Given the description of an element on the screen output the (x, y) to click on. 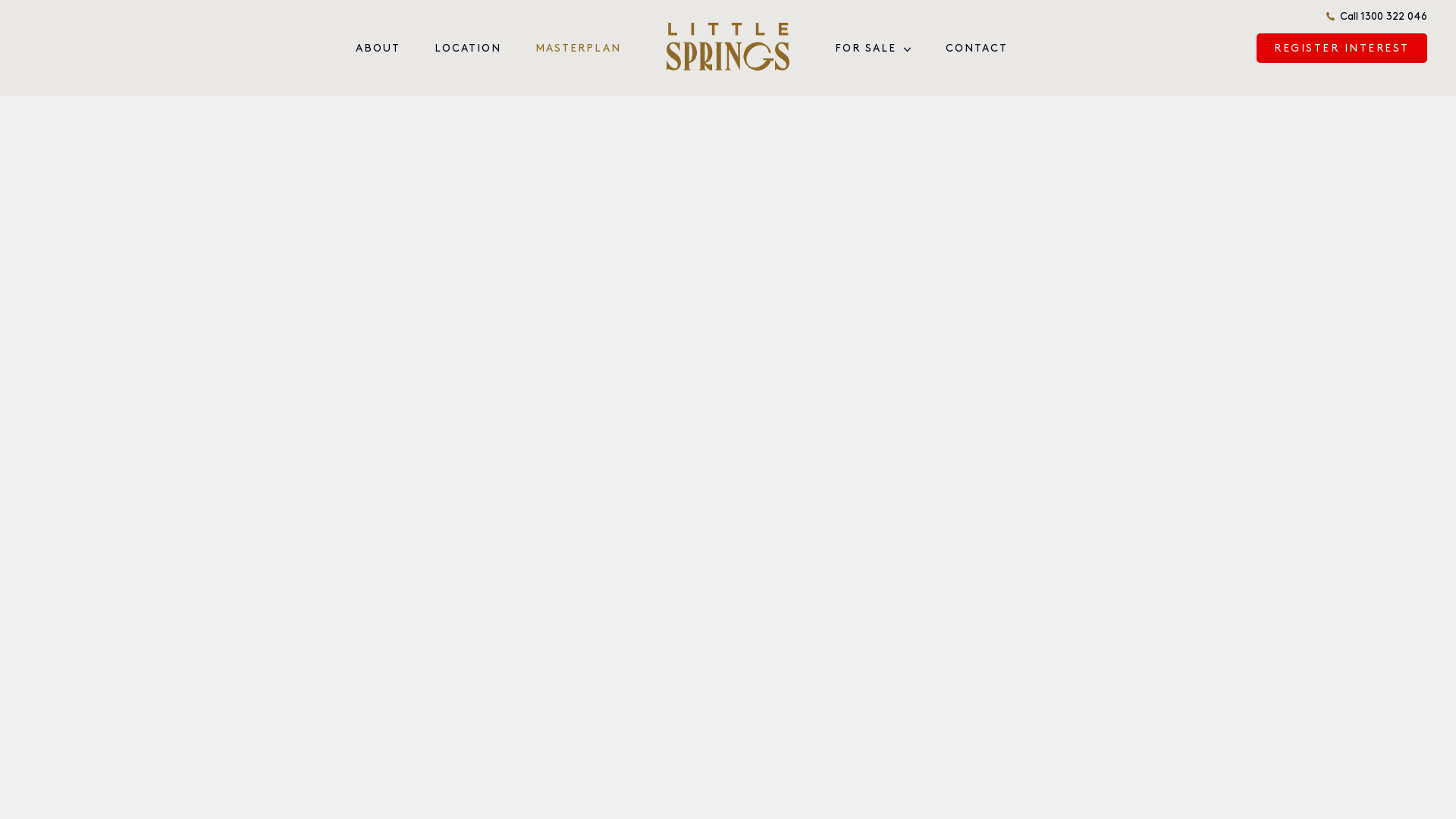
LOCATION Element type: text (467, 48)
REGISTER INTEREST Element type: text (1341, 47)
Submit Element type: text (994, 502)
MASTERPLAN Element type: text (578, 48)
1300 322 046 Element type: text (1393, 16)
FOR SALE Element type: text (865, 48)
CONTACT Element type: text (976, 48)
ABOUT Element type: text (377, 48)
